Given the description of an element on the screen output the (x, y) to click on. 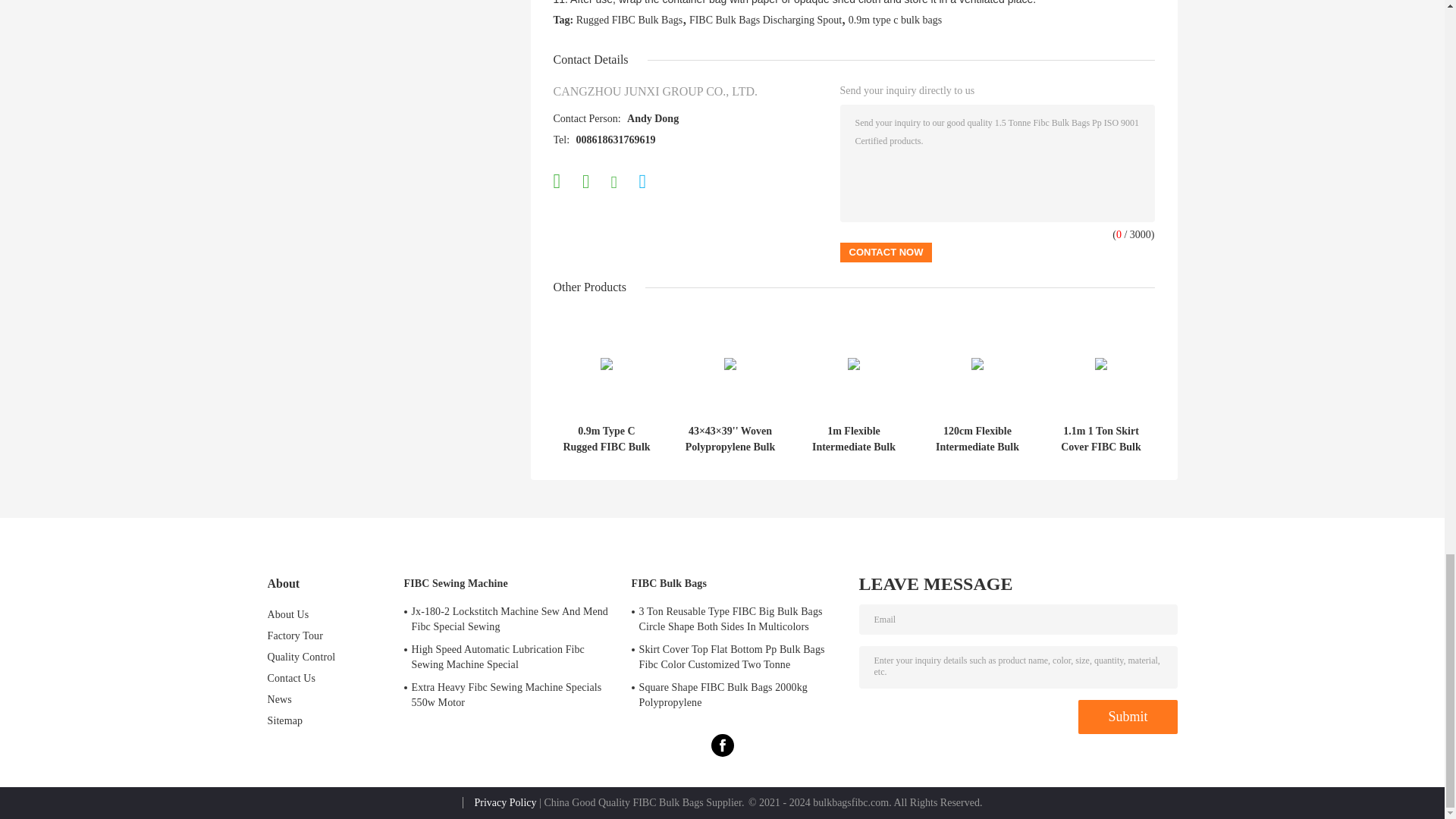
Contact Now (886, 252)
Submit (1127, 716)
